Given the description of an element on the screen output the (x, y) to click on. 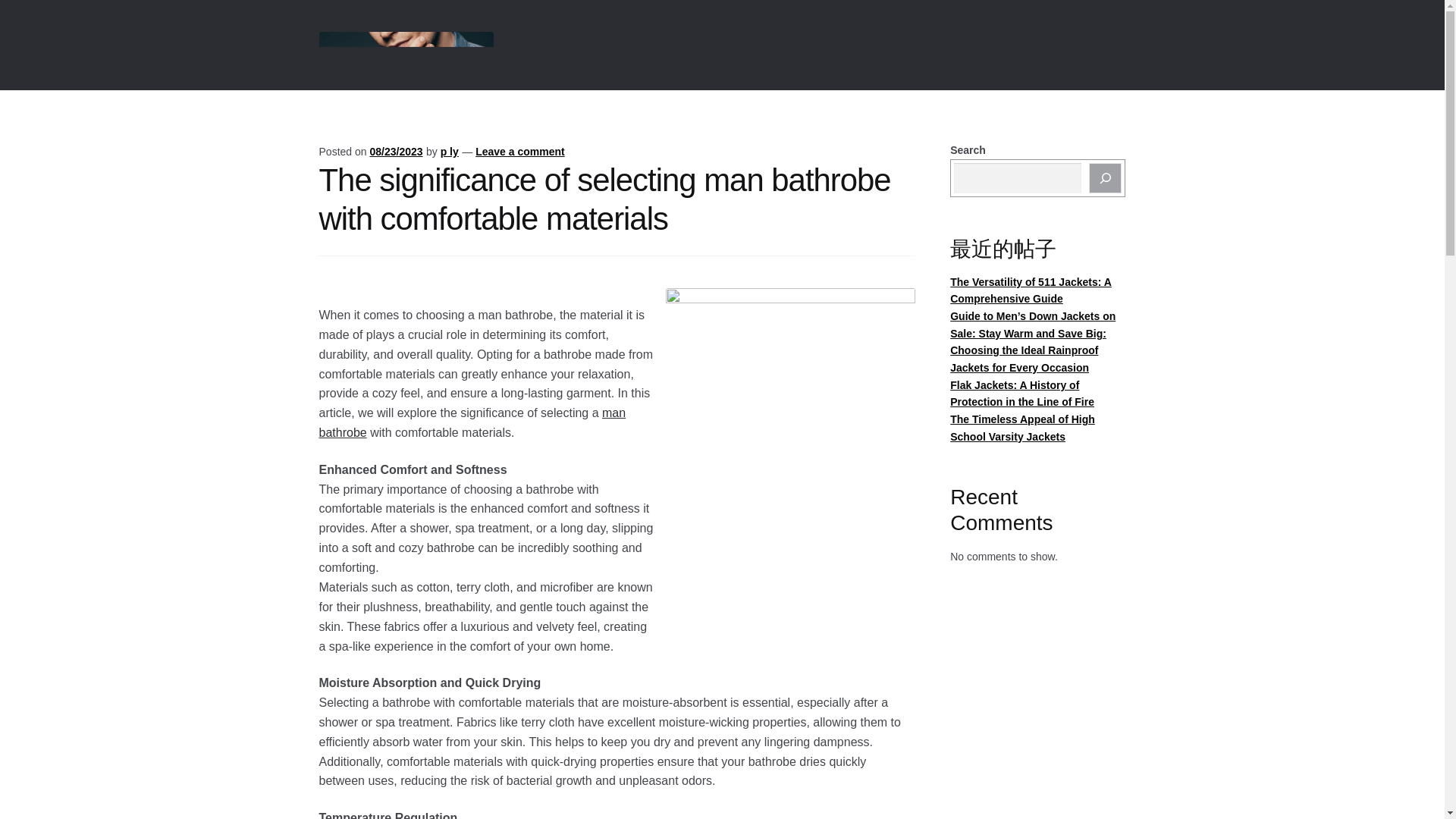
man bathrobe (472, 422)
p ly (449, 151)
Choosing the Ideal Rainproof Jackets for Every Occasion (1023, 358)
The Timeless Appeal of High School Varsity Jackets (1022, 428)
Leave a comment (520, 151)
Flak Jackets: A History of Protection in the Line of Fire (1022, 393)
The Versatility of 511 Jackets: A Comprehensive Guide (1031, 290)
